Given the description of an element on the screen output the (x, y) to click on. 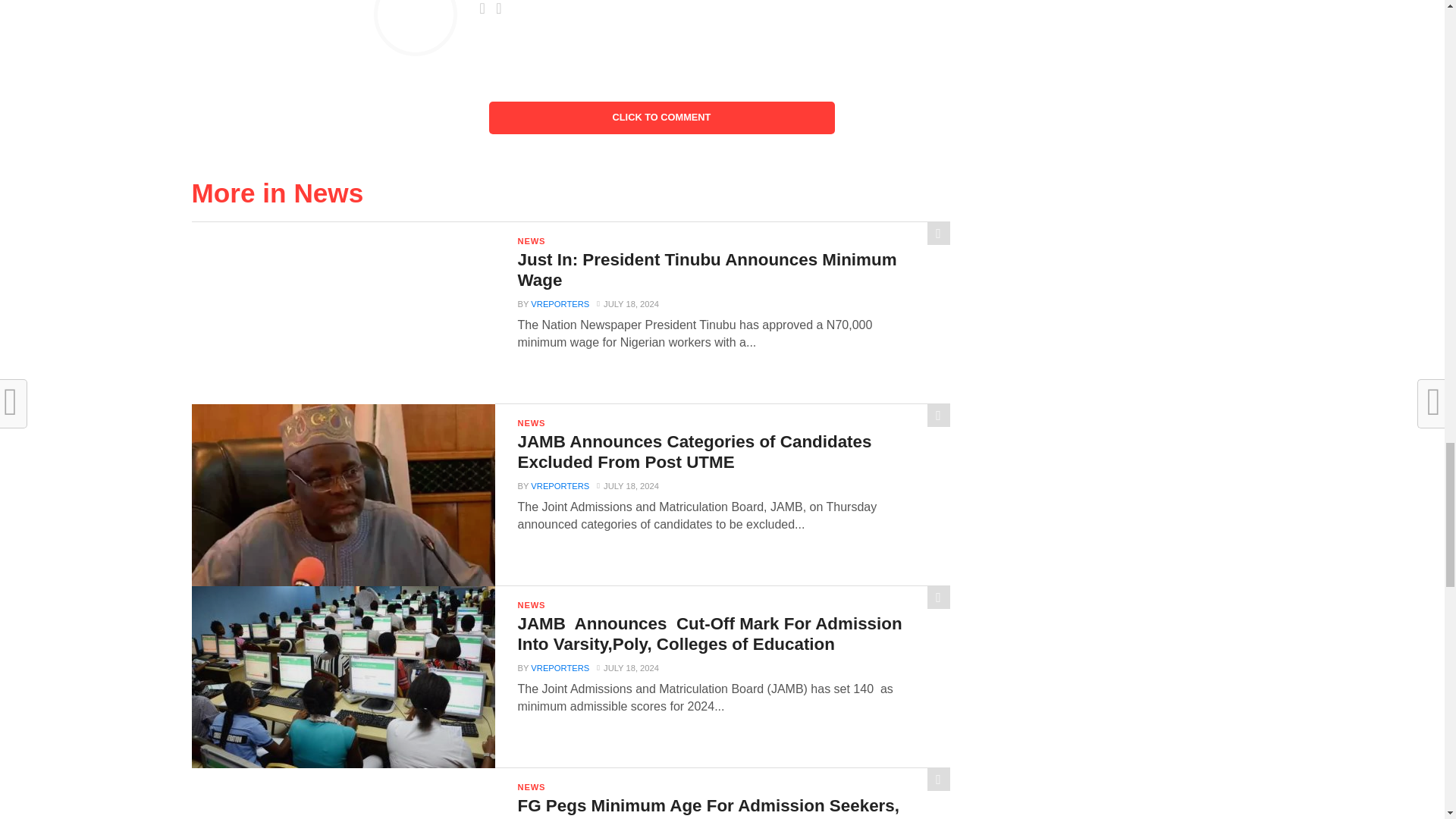
Posts by Vreporters (560, 303)
